Given the description of an element on the screen output the (x, y) to click on. 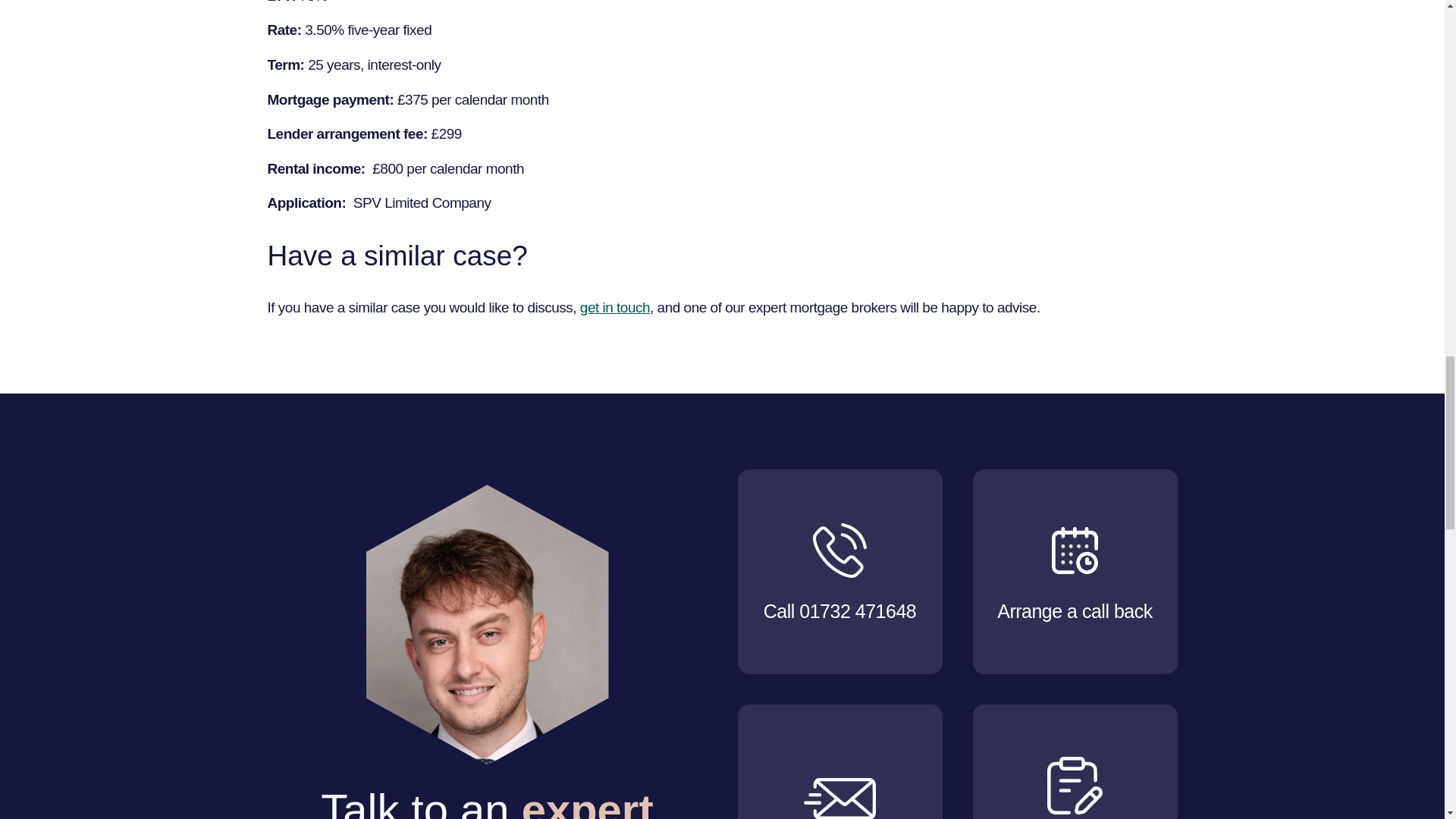
Speak to a mortgage broker (614, 307)
